Given the description of an element on the screen output the (x, y) to click on. 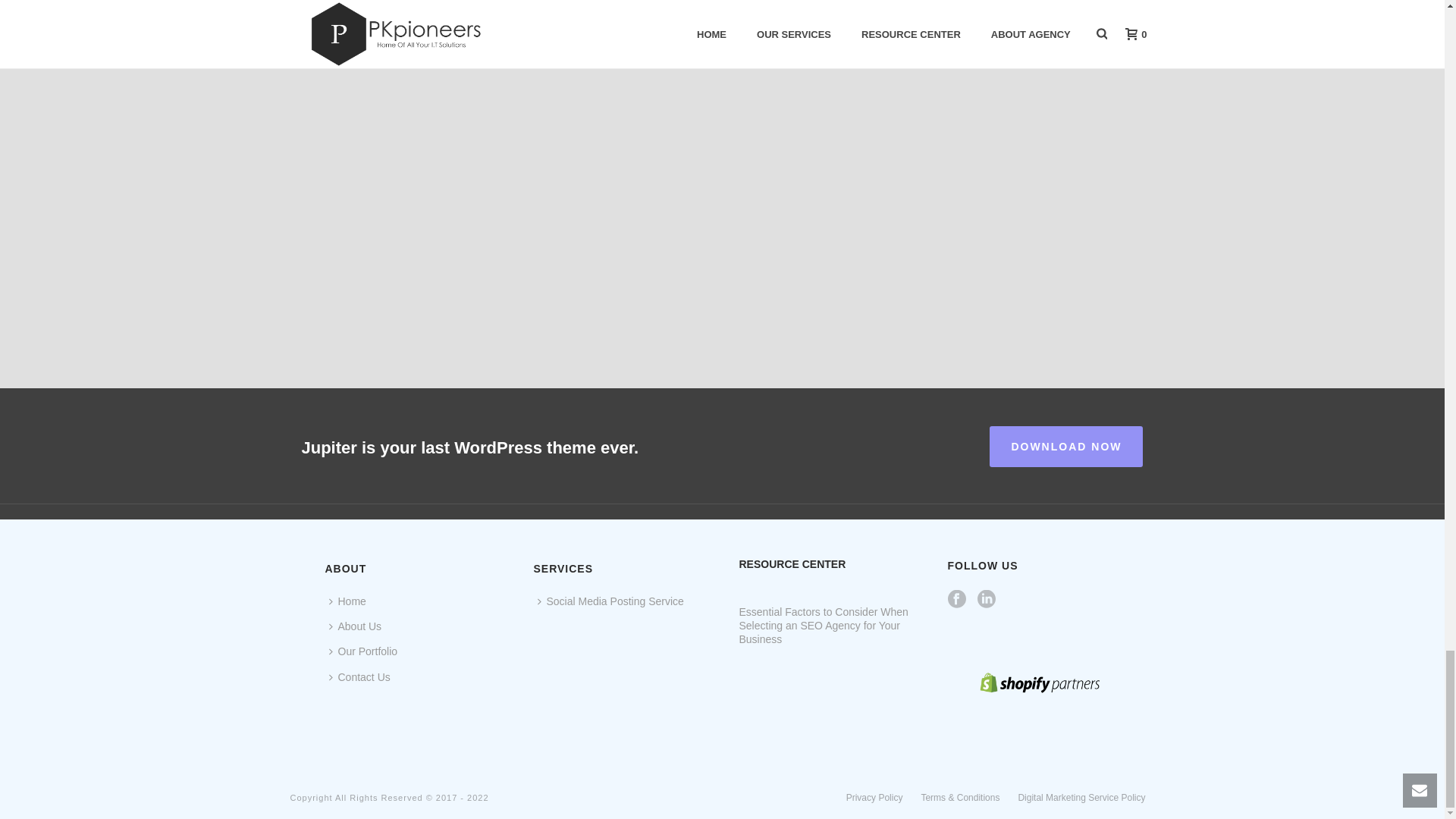
DOWNLOAD NOW (1066, 445)
